Given the description of an element on the screen output the (x, y) to click on. 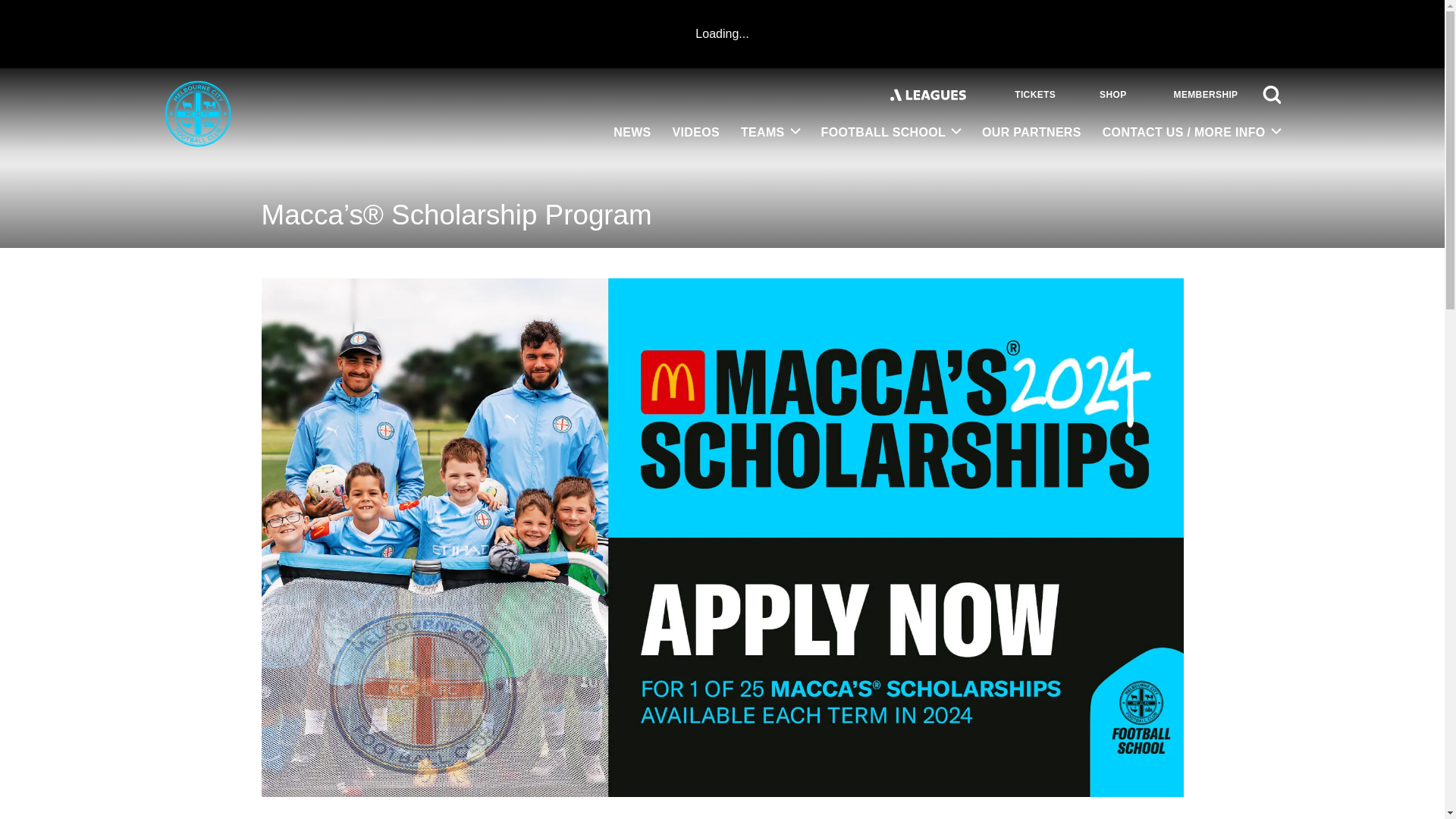
TEAMS (770, 132)
VIDEOS (696, 133)
NEWS (631, 133)
FOOTBALL SCHOOL (891, 132)
OUR PARTNERS (1031, 133)
